Given the description of an element on the screen output the (x, y) to click on. 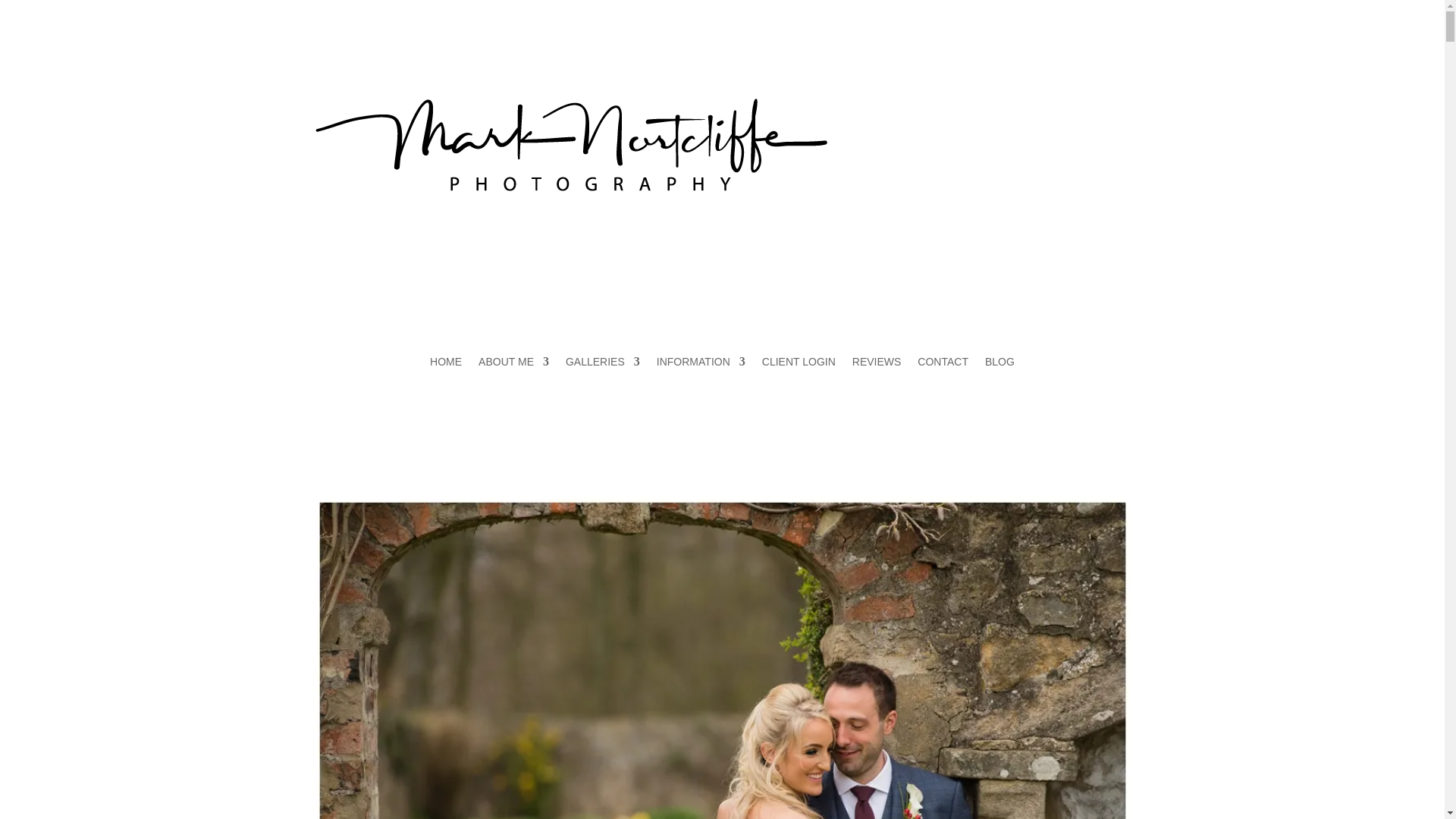
HOME (445, 364)
BLOG (999, 364)
Mark-Nortcliffe-web (577, 144)
REVIEWS (876, 364)
CLIENT LOGIN (798, 364)
ABOUT ME (513, 364)
CONTACT (942, 364)
INFORMATION (700, 364)
GALLERIES (603, 364)
